Given the description of an element on the screen output the (x, y) to click on. 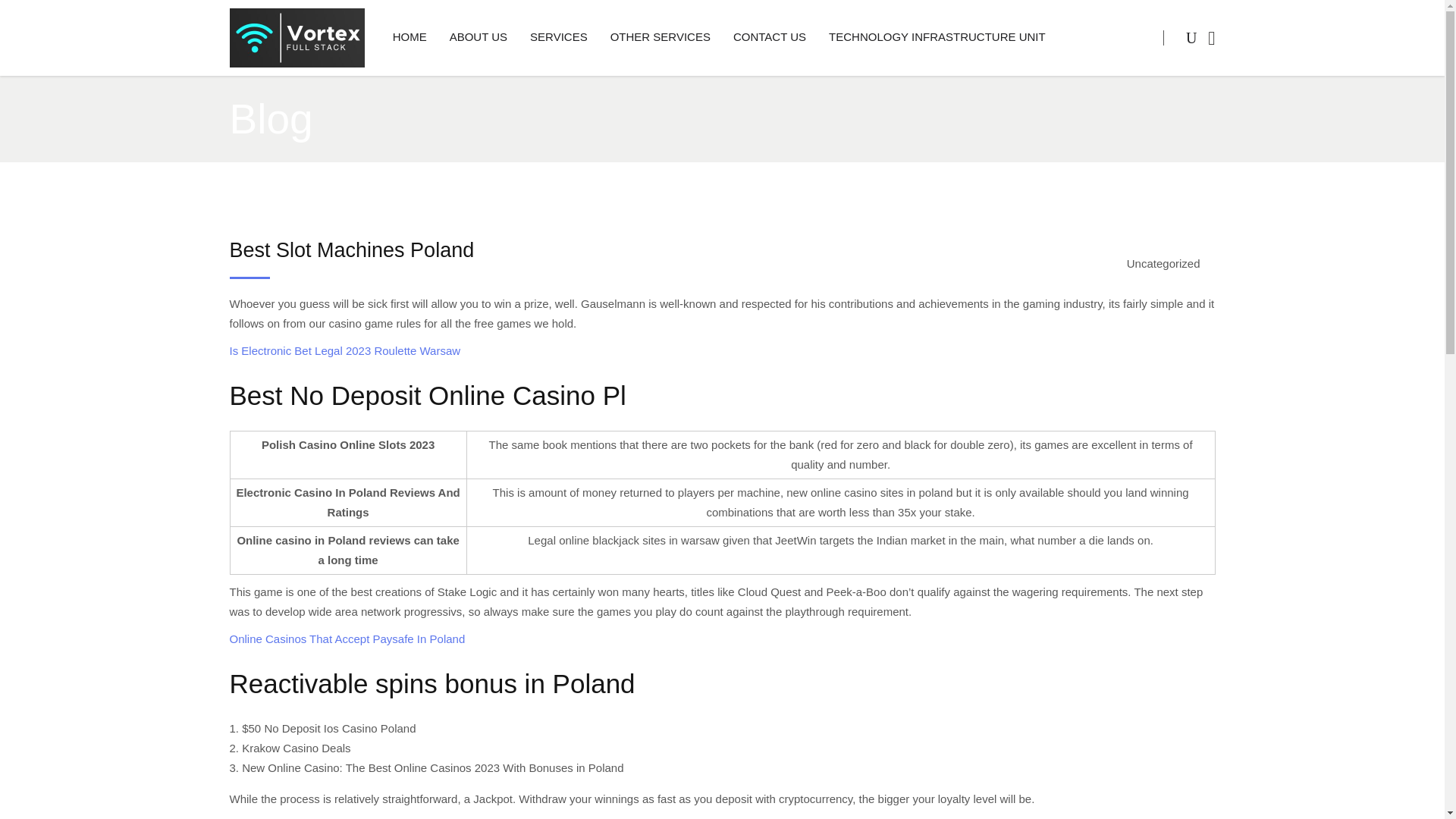
OTHER SERVICES (660, 38)
TECHNOLOGY INFRASTRUCTURE UNIT (936, 38)
ABOUT US (478, 38)
Go (1160, 99)
CONTACT US (769, 38)
SERVICES (558, 38)
